Given the description of an element on the screen output the (x, y) to click on. 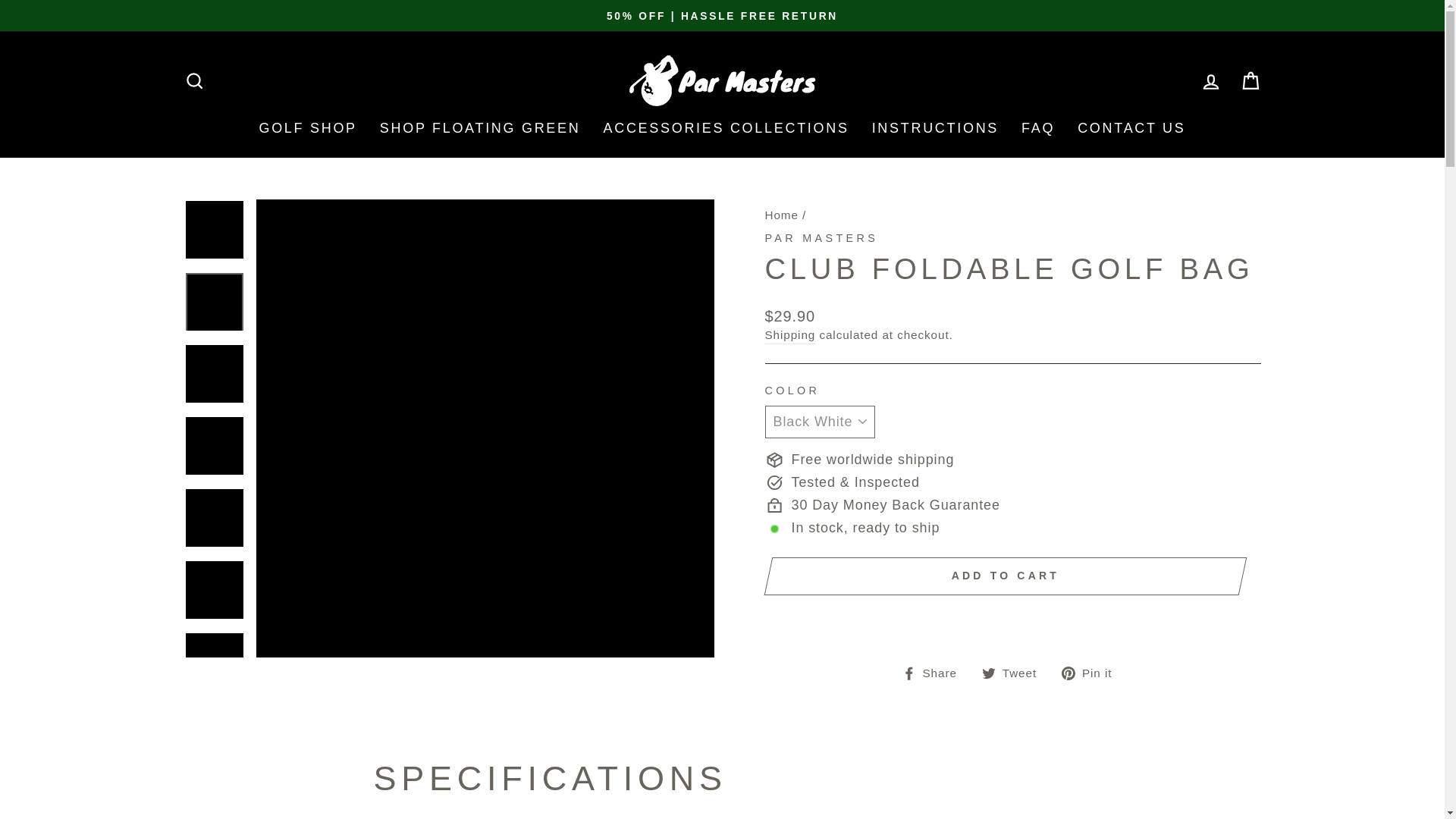
Par Masters (820, 237)
Tweet on Twitter (1014, 672)
Pin on Pinterest (1091, 672)
Share on Facebook (935, 672)
Back to the frontpage (780, 214)
